Given the description of an element on the screen output the (x, y) to click on. 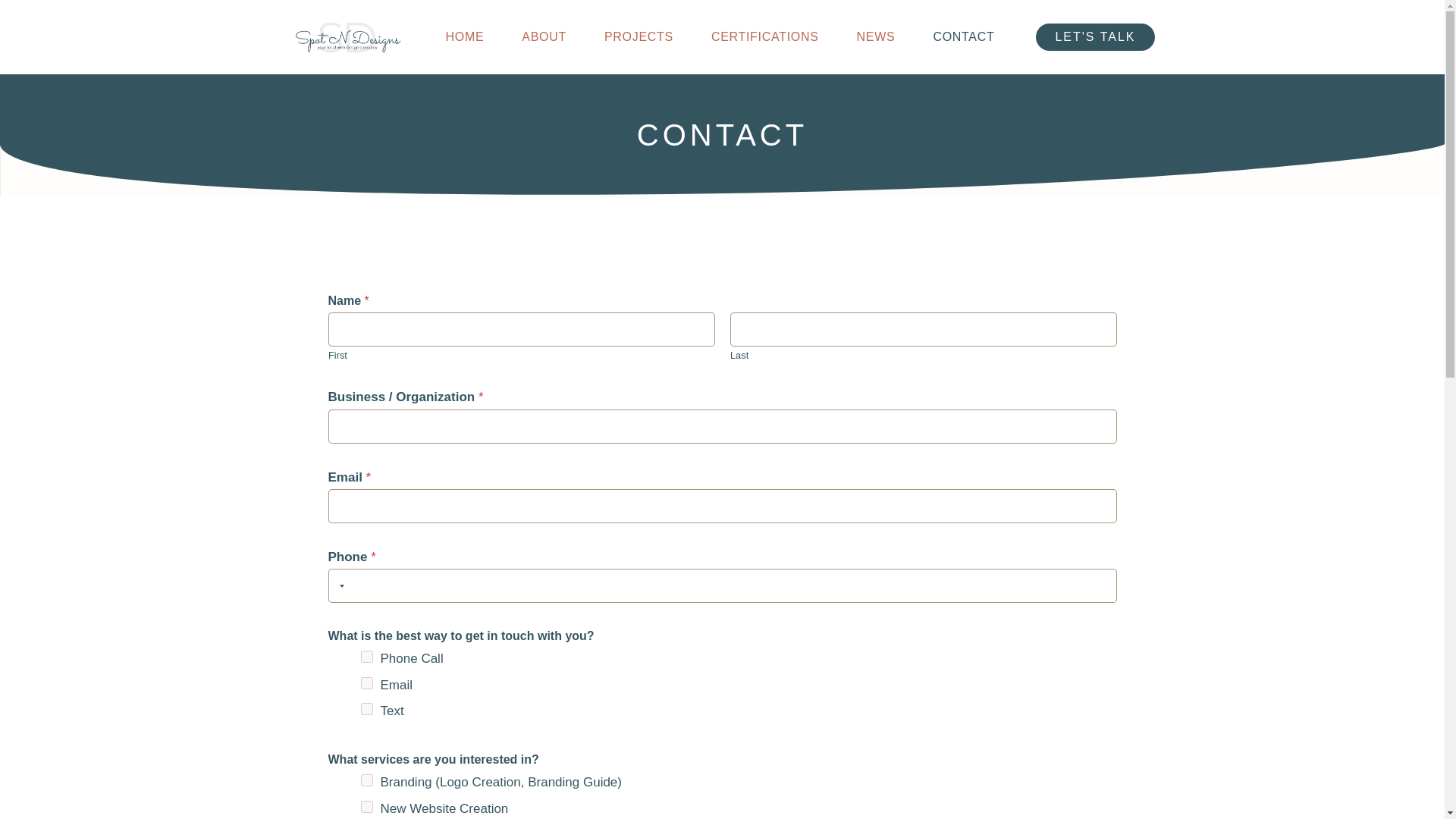
NEWS (876, 37)
PROJECTS (638, 37)
Phone Call (366, 656)
New Website Creation (366, 806)
Text (366, 708)
Email (366, 683)
LET'S TALK (1094, 36)
CERTIFICATIONS (764, 37)
ABOUT (543, 37)
CONTACT (963, 37)
HOME (464, 37)
